Given the description of an element on the screen output the (x, y) to click on. 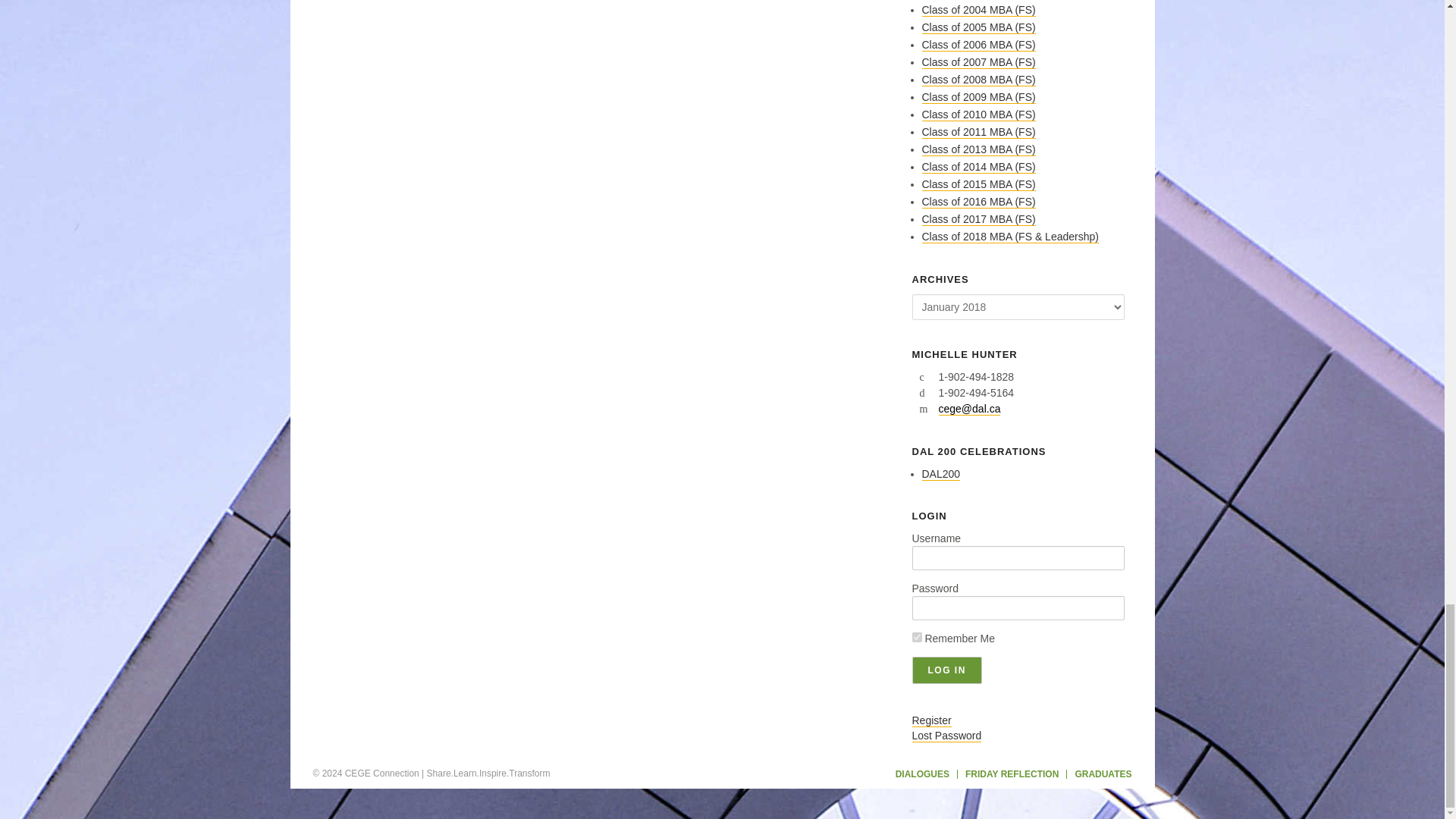
forever (916, 637)
Log In (946, 669)
